Given the description of an element on the screen output the (x, y) to click on. 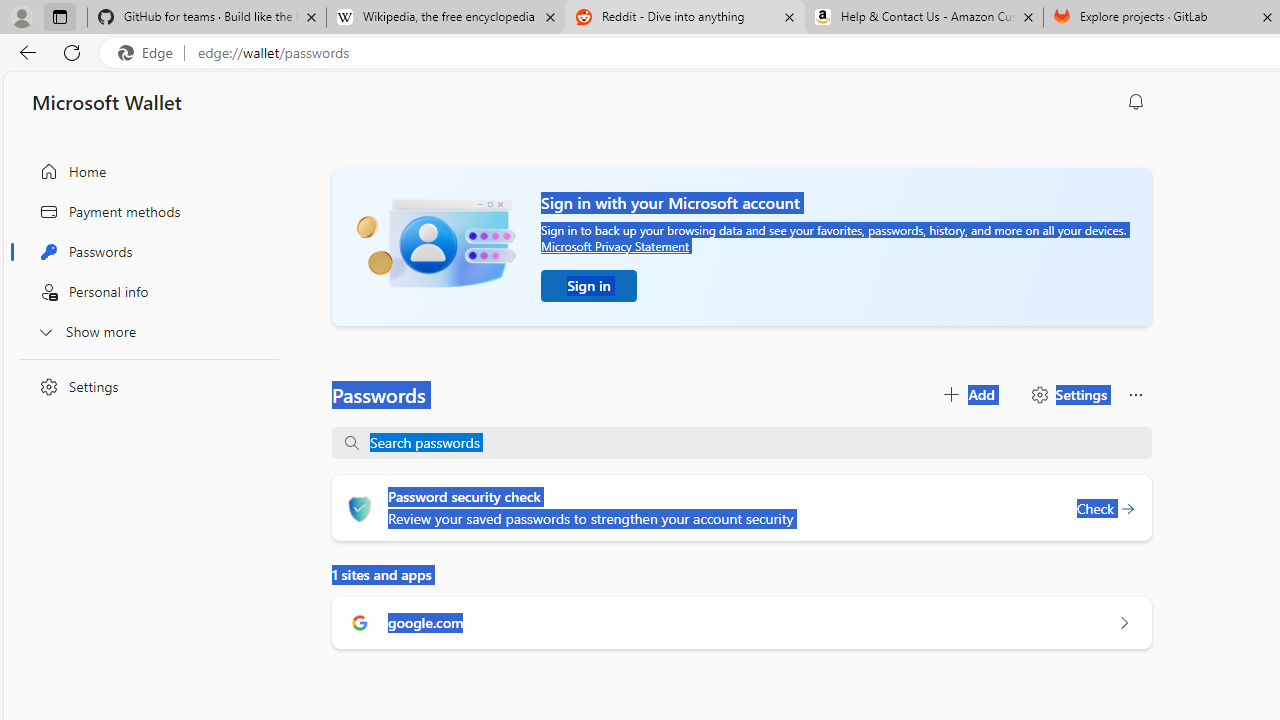
More actions (1136, 394)
Payment methods (143, 211)
Reddit - Dive into anything (684, 17)
google.com (741, 622)
Add (968, 394)
Passwords (143, 252)
Password security check, Check (1106, 507)
